Given the description of an element on the screen output the (x, y) to click on. 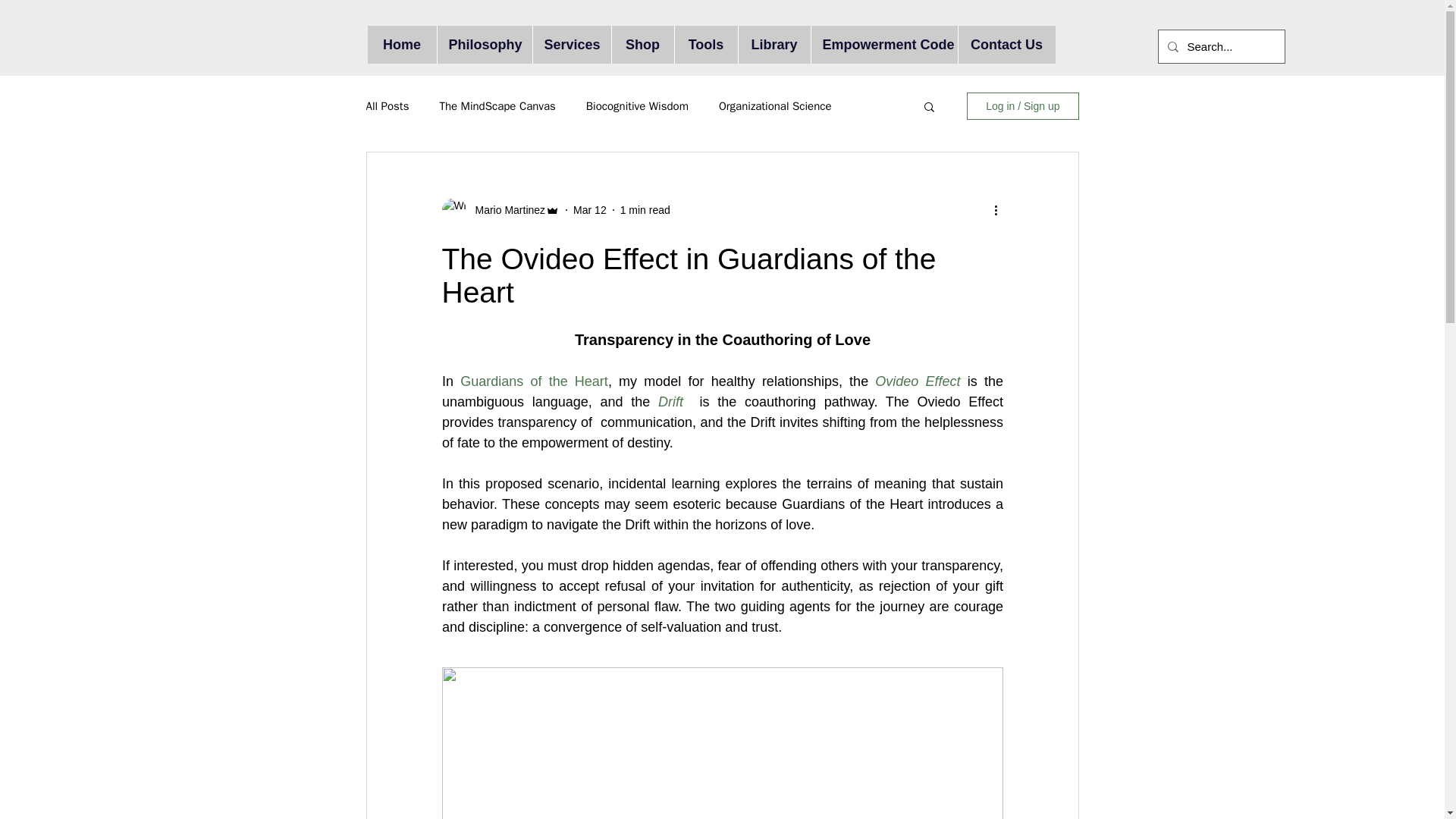
Empowerment Code (882, 44)
Philosophy (484, 44)
Guardians of the Heart (534, 381)
Mario Martinez (504, 209)
Drift  (674, 401)
Mar 12 (590, 209)
Home (400, 44)
1 min read (644, 209)
Organizational Science (775, 105)
All Posts (387, 105)
